Given the description of an element on the screen output the (x, y) to click on. 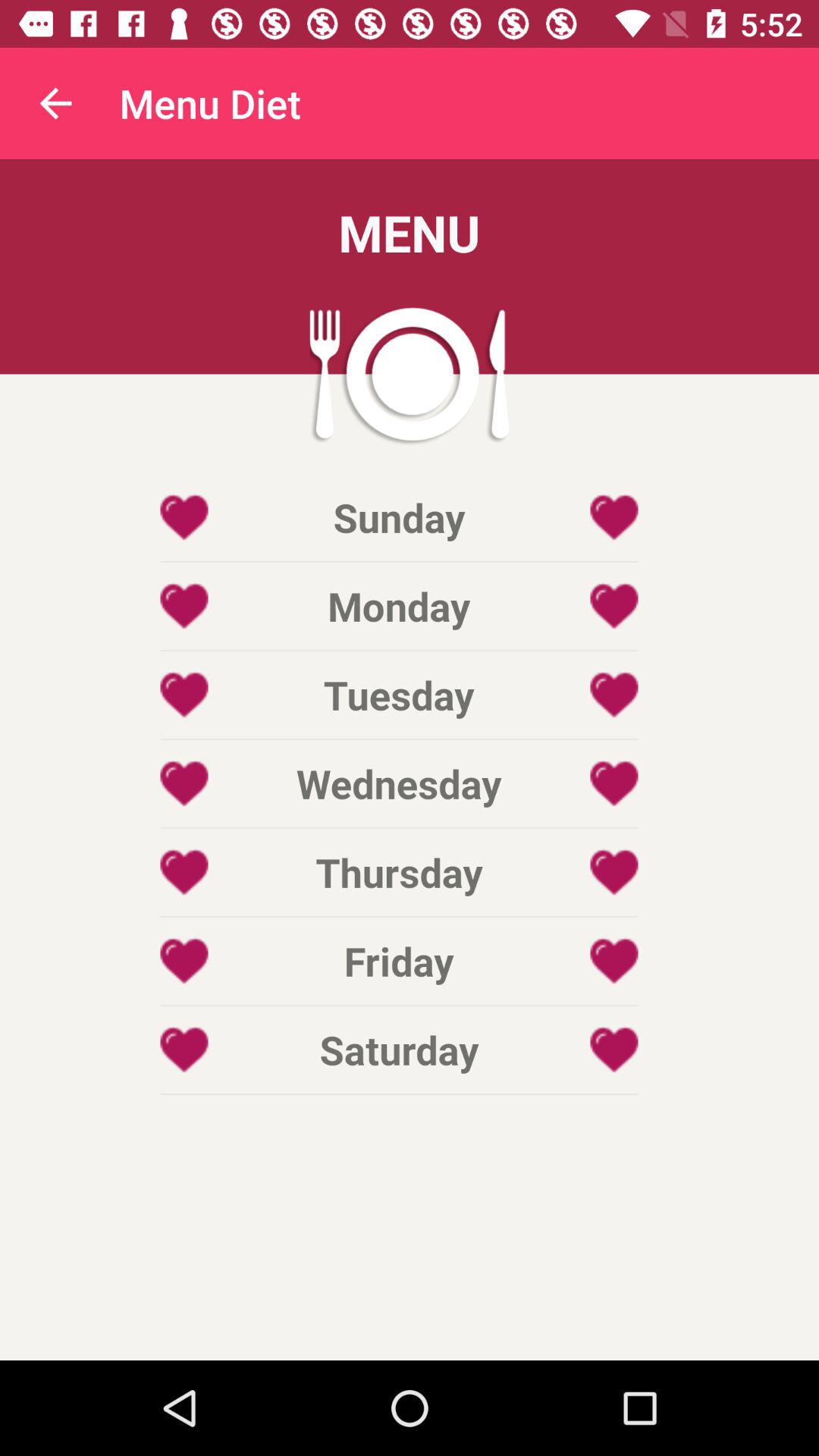
scroll to wednesday item (398, 783)
